Given the description of an element on the screen output the (x, y) to click on. 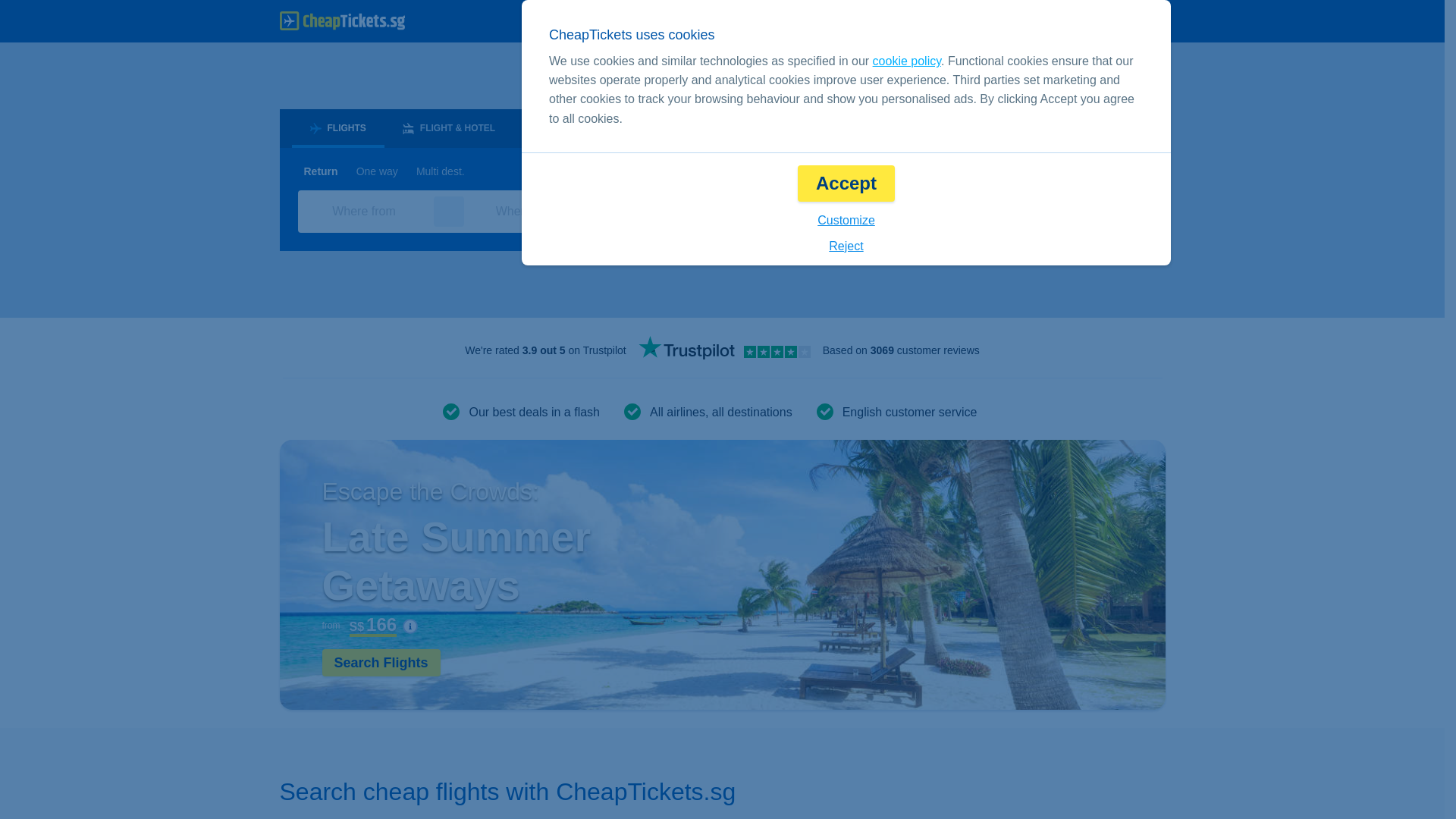
My Account (1116, 21)
Search (1087, 211)
English (902, 21)
Based on 3069 customer reviews (900, 350)
Search Flights (380, 662)
